Given the description of an element on the screen output the (x, y) to click on. 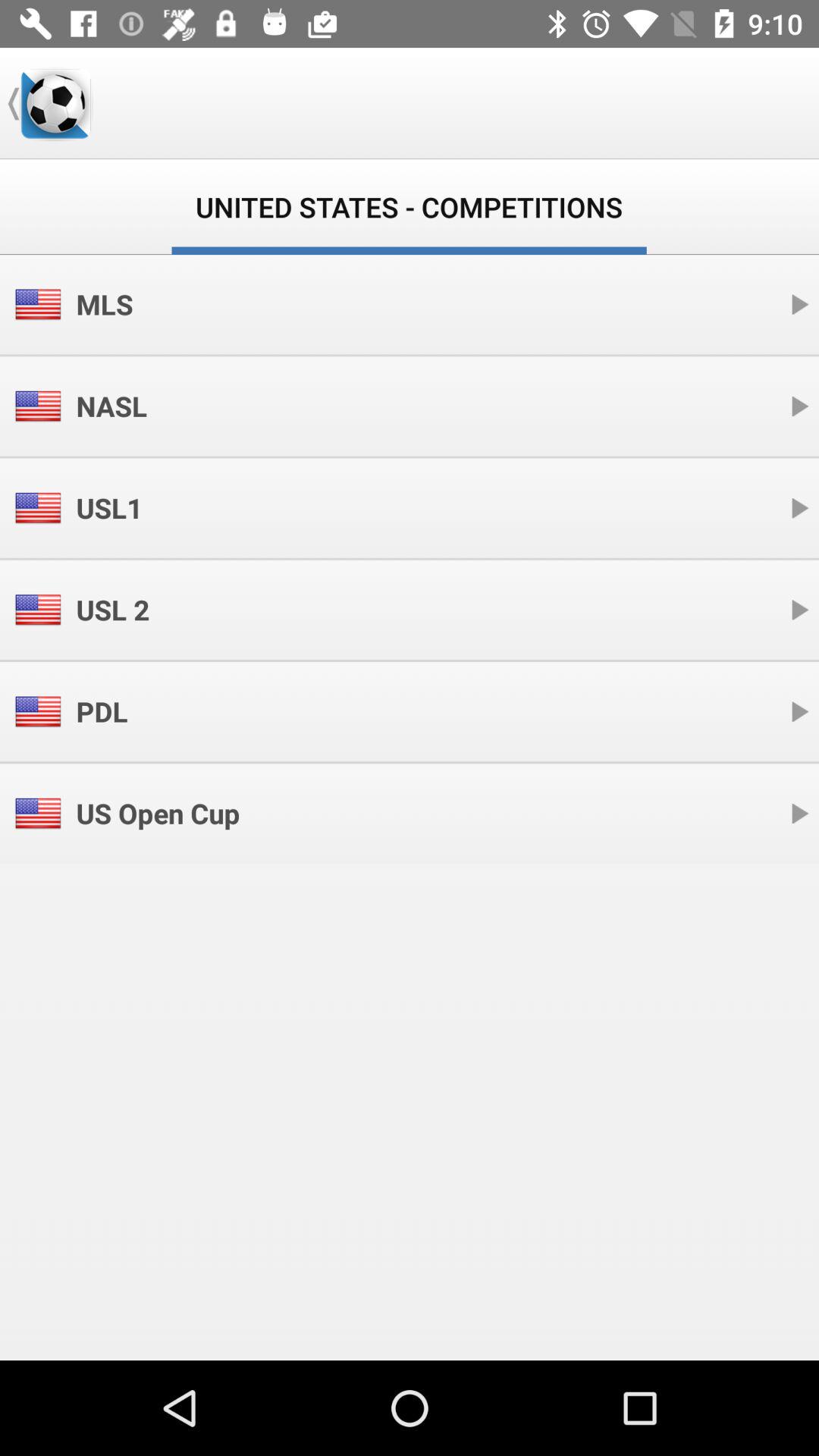
click the pdl (101, 711)
